Given the description of an element on the screen output the (x, y) to click on. 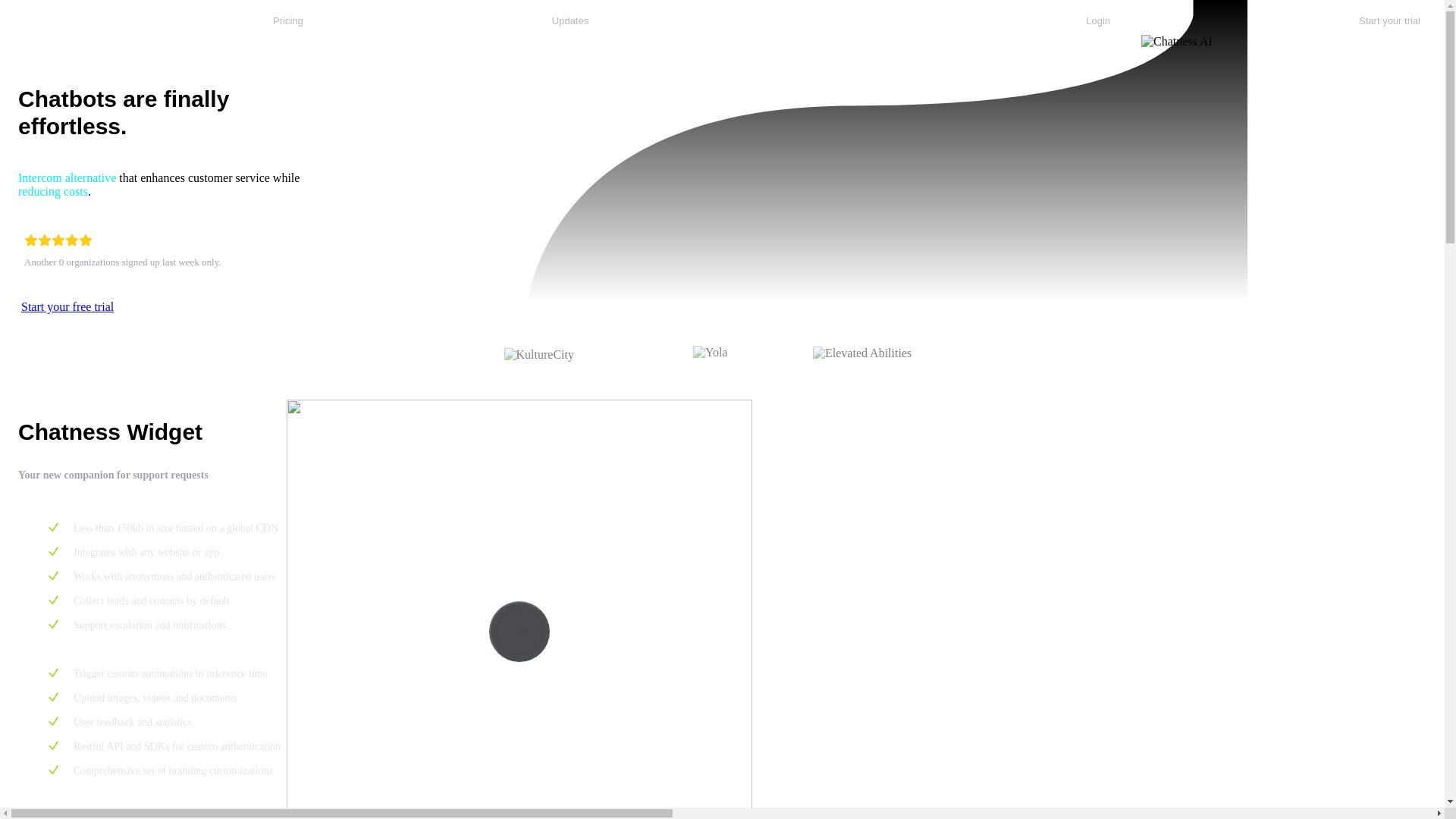
Start your free trial (67, 306)
Pricing (287, 20)
Updates (569, 20)
Login (1097, 20)
Start your trial (1389, 20)
